Given the description of an element on the screen output the (x, y) to click on. 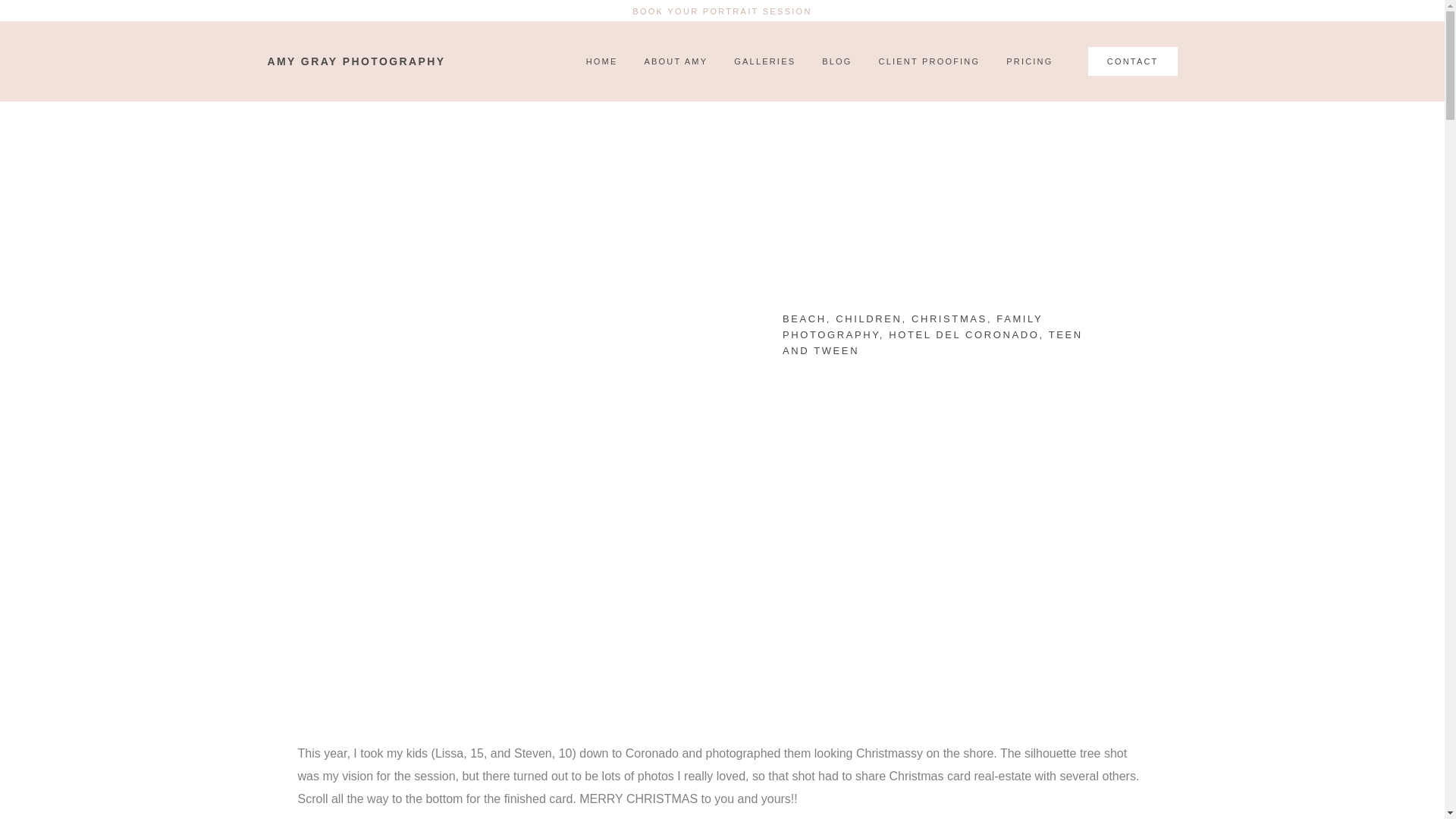
HOME (602, 61)
CLIENT PROOFING (929, 61)
PRICING (1028, 61)
BEACH (805, 318)
BOOK YOUR PORTRAIT SESSION (720, 10)
CHRISTMAS (949, 318)
TEEN AND TWEEN (933, 342)
AMY GRAY PHOTOGRAPHY (355, 61)
HOTEL DEL CORONADO (963, 334)
BLOG (836, 61)
